Given the description of an element on the screen output the (x, y) to click on. 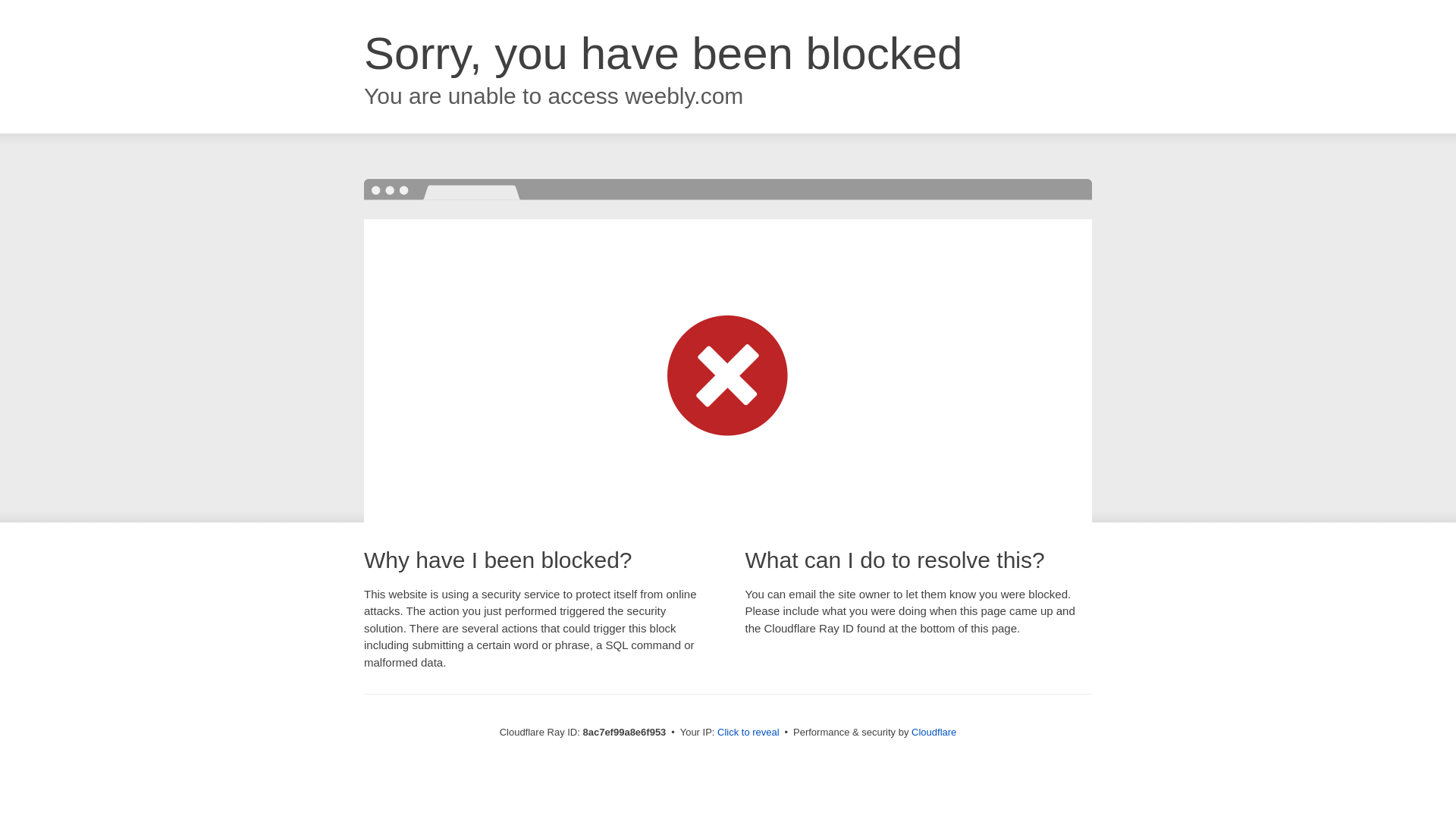
Cloudflare (933, 731)
Click to reveal (747, 732)
